Given the description of an element on the screen output the (x, y) to click on. 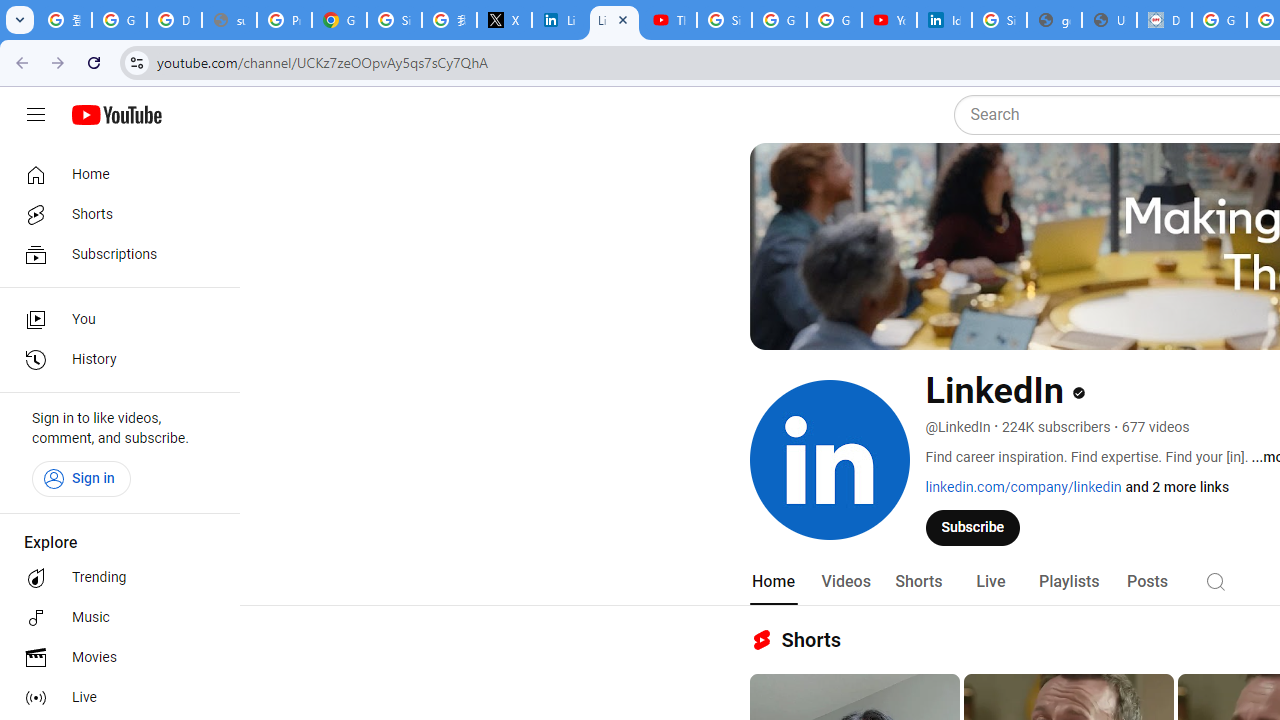
support.google.com - Network error (229, 20)
LinkedIn Privacy Policy (559, 20)
and 2 more links (1177, 487)
Movies (113, 657)
Shorts (918, 581)
google_privacy_policy_en.pdf (1053, 20)
Sign in - Google Accounts (394, 20)
User Details (1108, 20)
Videos (845, 581)
Guide (35, 115)
